Given the description of an element on the screen output the (x, y) to click on. 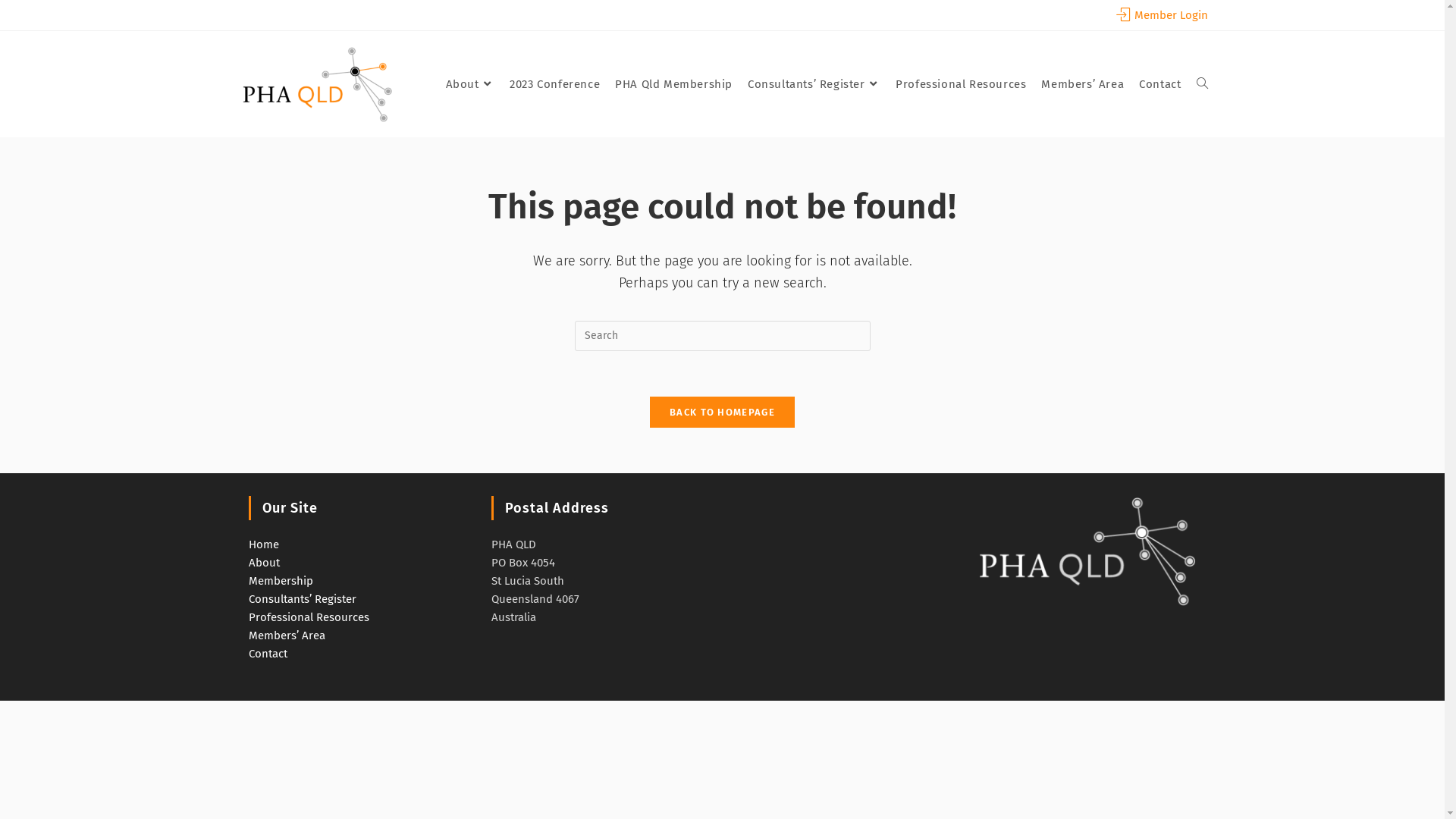
About Element type: text (470, 84)
About Element type: text (263, 562)
Toggle Website Search Element type: text (1202, 84)
Member Login Element type: text (1162, 15)
Professional Resources Element type: text (960, 84)
Home Element type: text (263, 544)
PHA Qld Membership Element type: text (673, 84)
Membership Element type: text (280, 580)
BACK TO HOMEPAGE Element type: text (721, 411)
Professional Resources Element type: text (308, 617)
2023 Conference Element type: text (554, 84)
Contact Element type: text (267, 653)
Contact Element type: text (1159, 84)
